Given the description of an element on the screen output the (x, y) to click on. 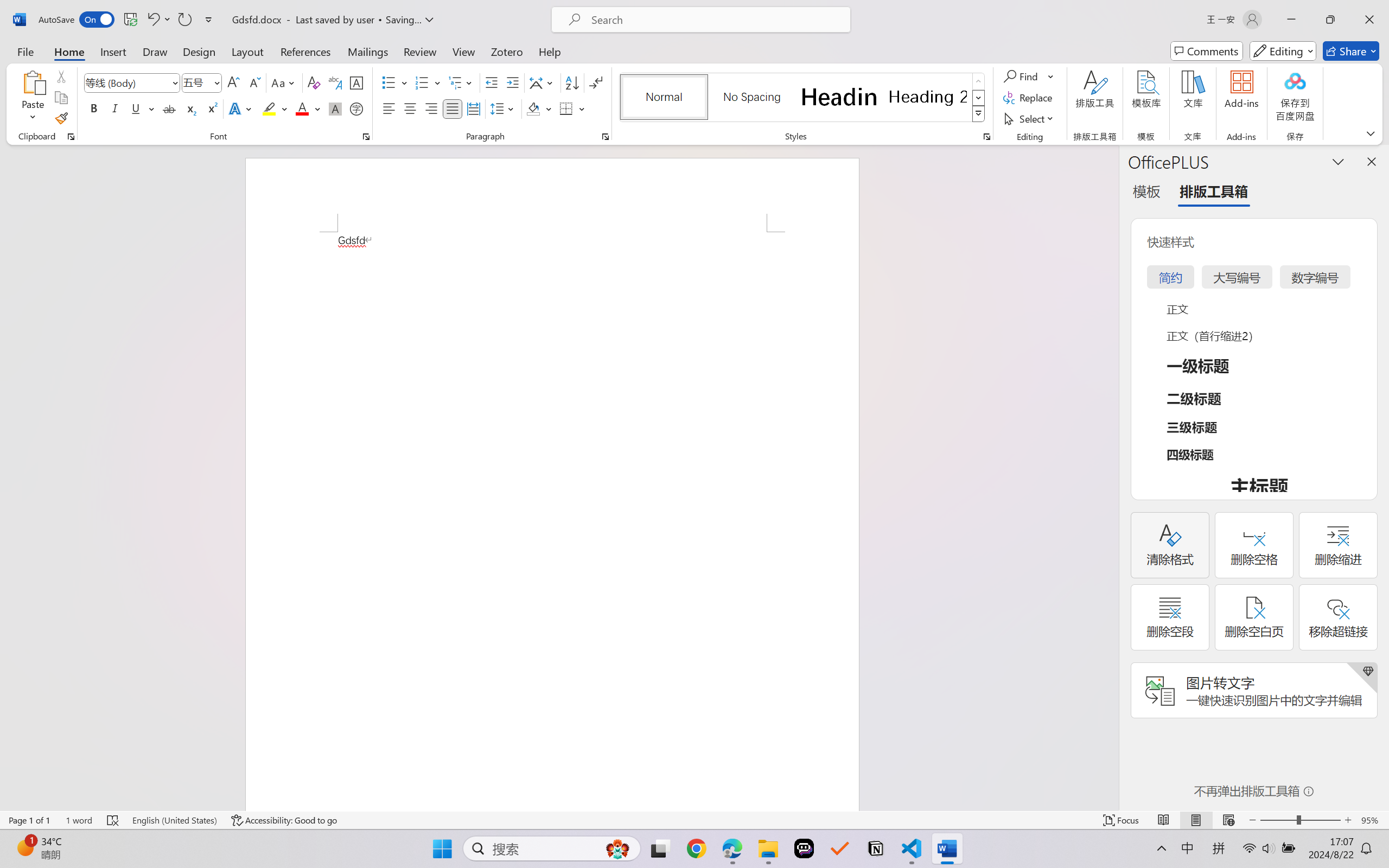
Page 1 content (552, 521)
